Given the description of an element on the screen output the (x, y) to click on. 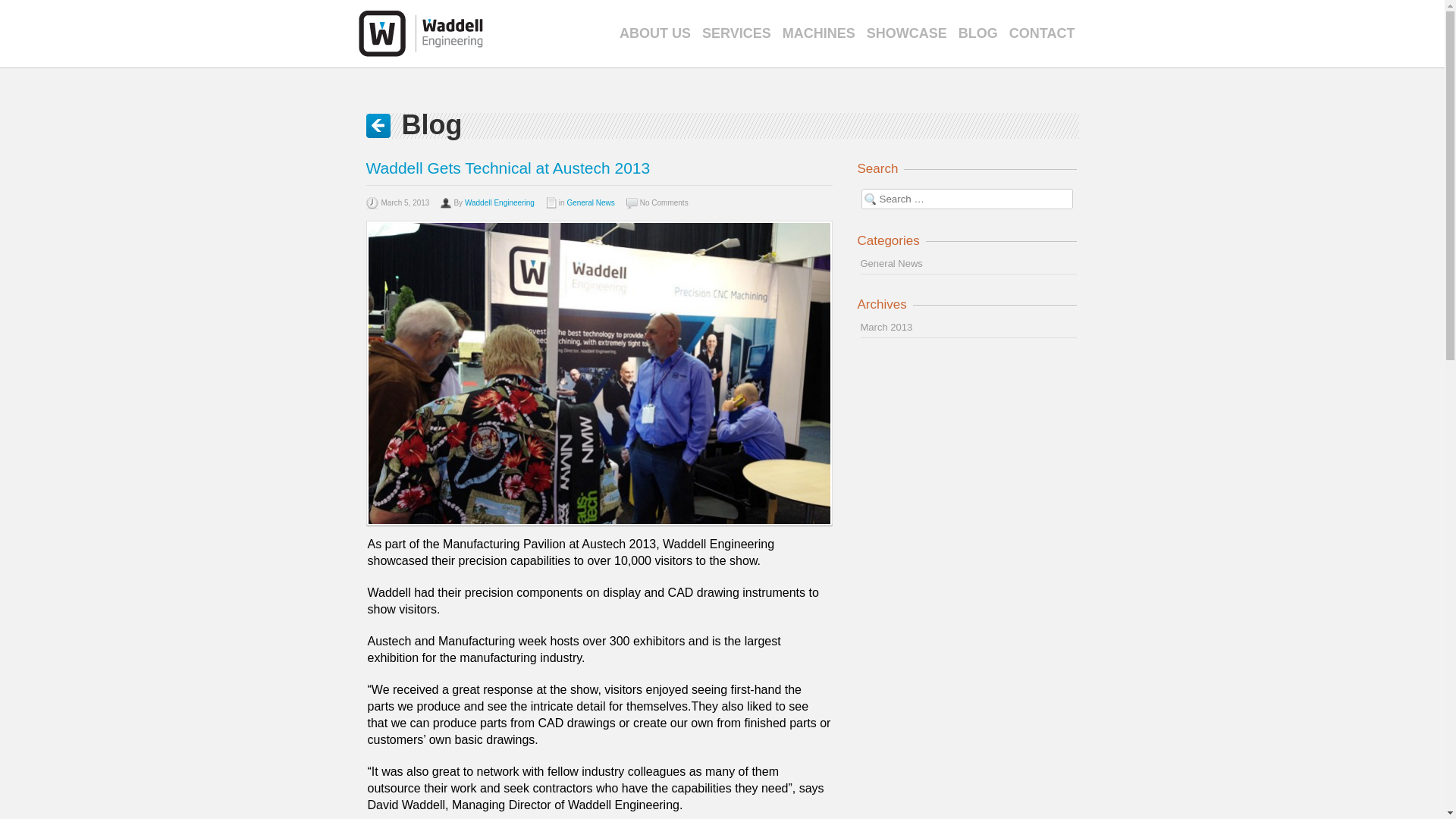
BLOG (983, 33)
MACHINES (824, 33)
ABOUT US (660, 33)
SHOWCASE (912, 33)
SERVICES (742, 33)
CONTACT (1047, 33)
March 2013 (886, 326)
Waddell Engineering (499, 203)
General News (890, 263)
General News (590, 203)
Posts by Waddell Engineering (499, 203)
